Given the description of an element on the screen output the (x, y) to click on. 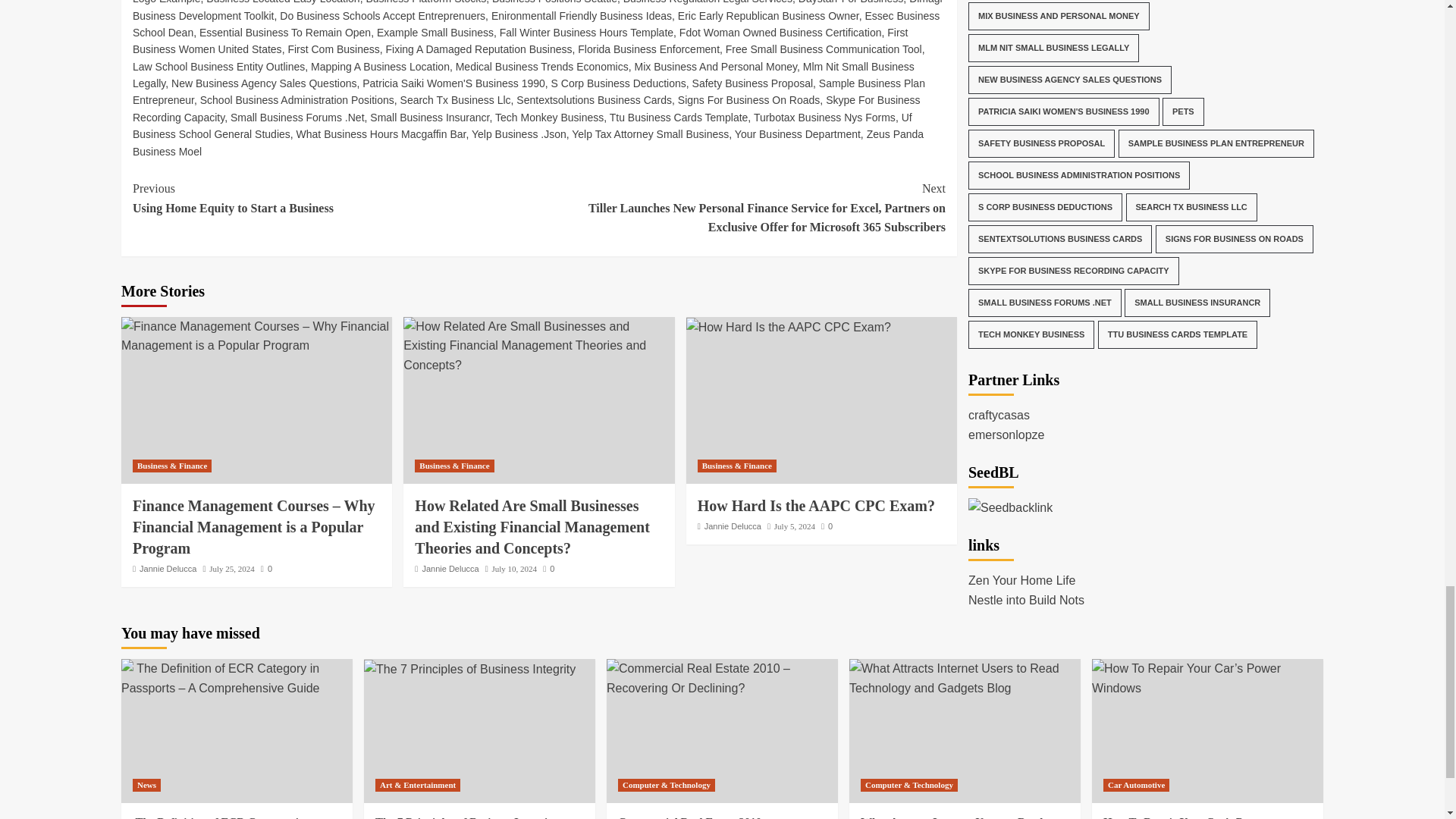
Business Regulation Legal Services (707, 2)
Dimagi Business Development Toolkit (537, 10)
Daystarr For Business (849, 2)
Business Located Easy Location (282, 2)
How Hard Is the AAPC CPC Exam? (788, 327)
Business Positions Seattle (554, 2)
Business Platform Stocks (425, 2)
